Given the description of an element on the screen output the (x, y) to click on. 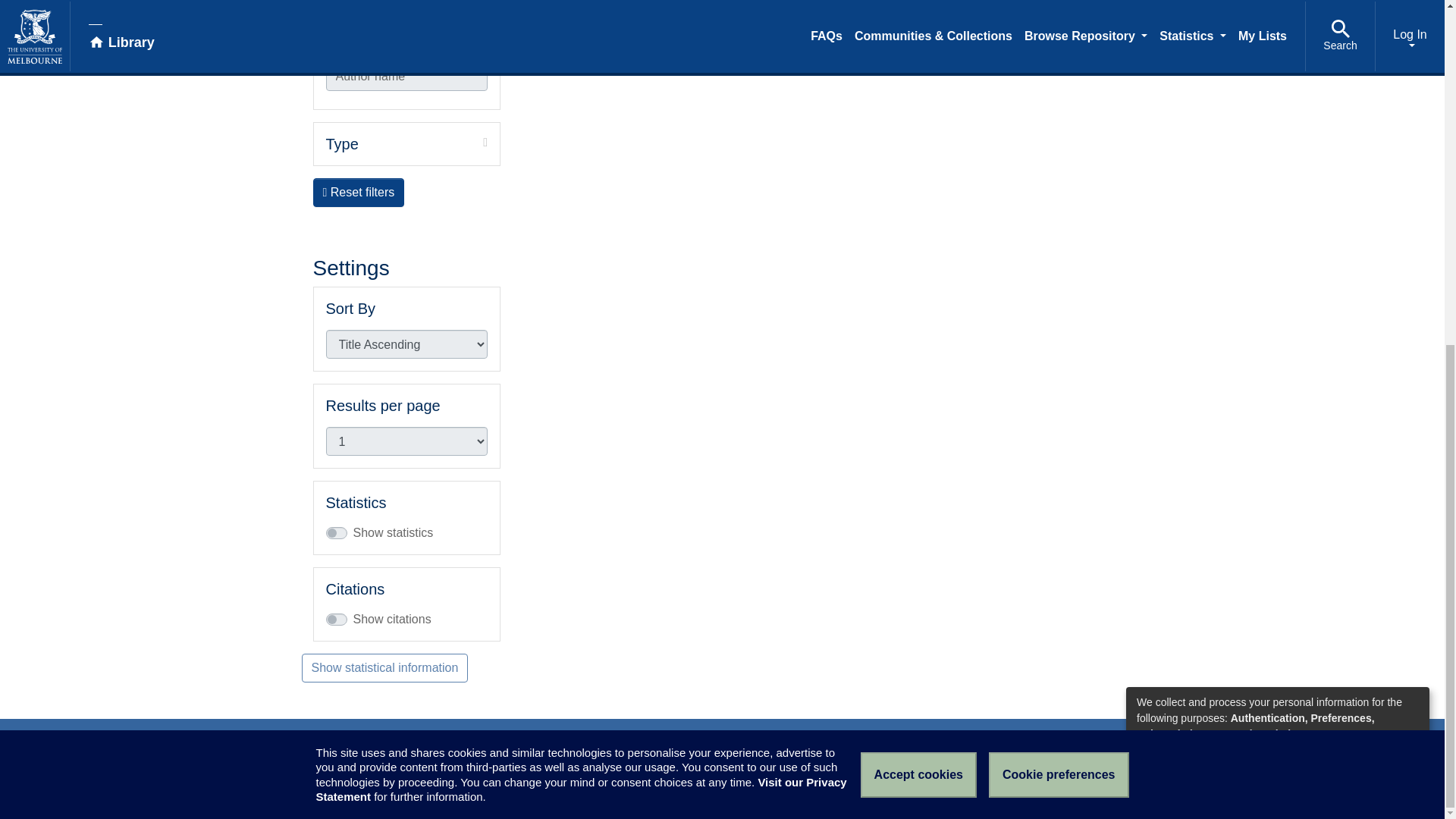
on (331, 9)
Expand filter (422, 142)
on (406, 28)
Flore, Marie May (331, 27)
Type (406, 10)
